Given the description of an element on the screen output the (x, y) to click on. 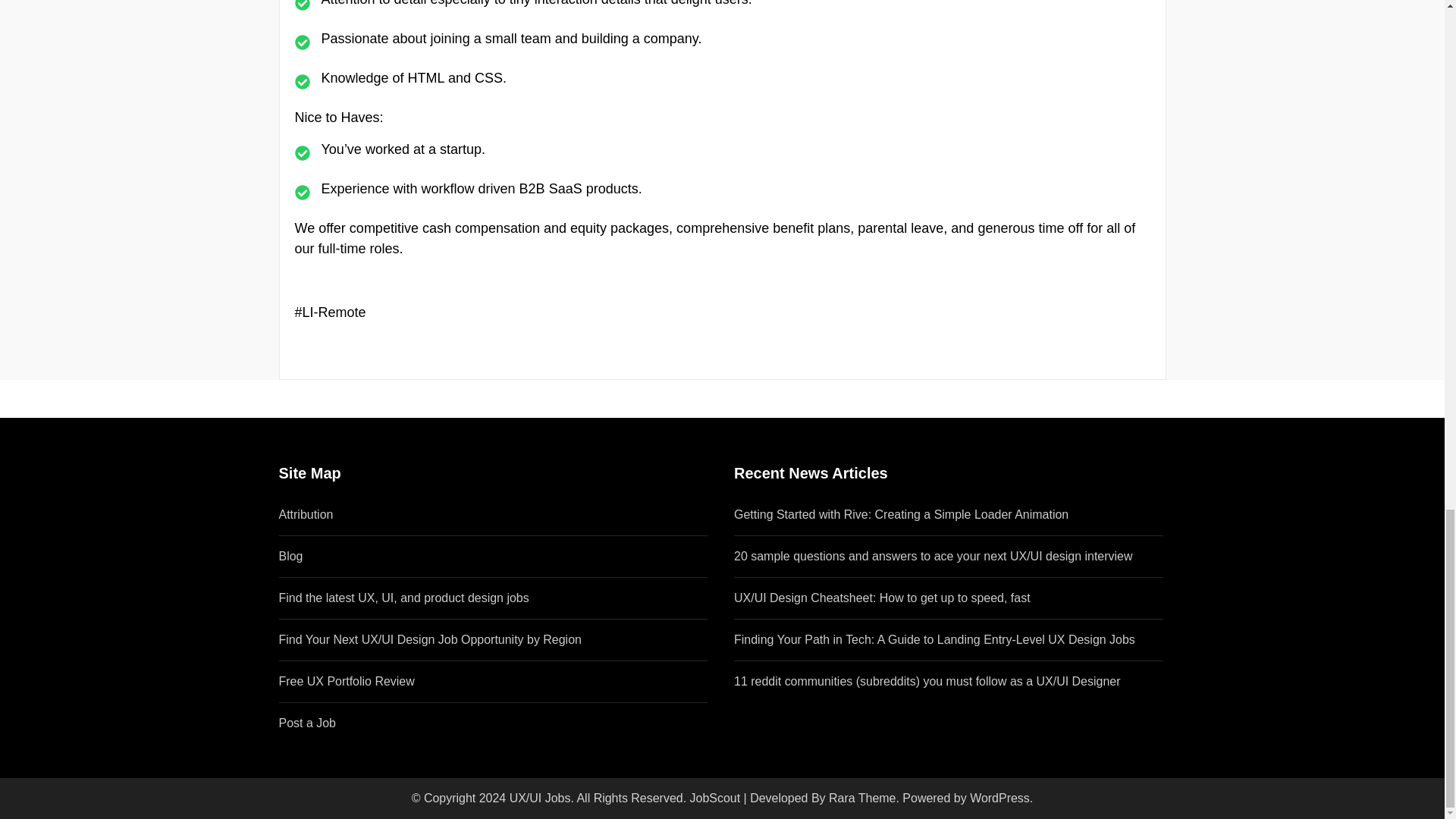
Blog (290, 555)
Post a Job (307, 722)
Free UX Portfolio Review (346, 680)
WordPress (999, 797)
Rara Theme (861, 797)
Find the latest UX, UI, and product design jobs (404, 597)
Attribution (306, 513)
